Given the description of an element on the screen output the (x, y) to click on. 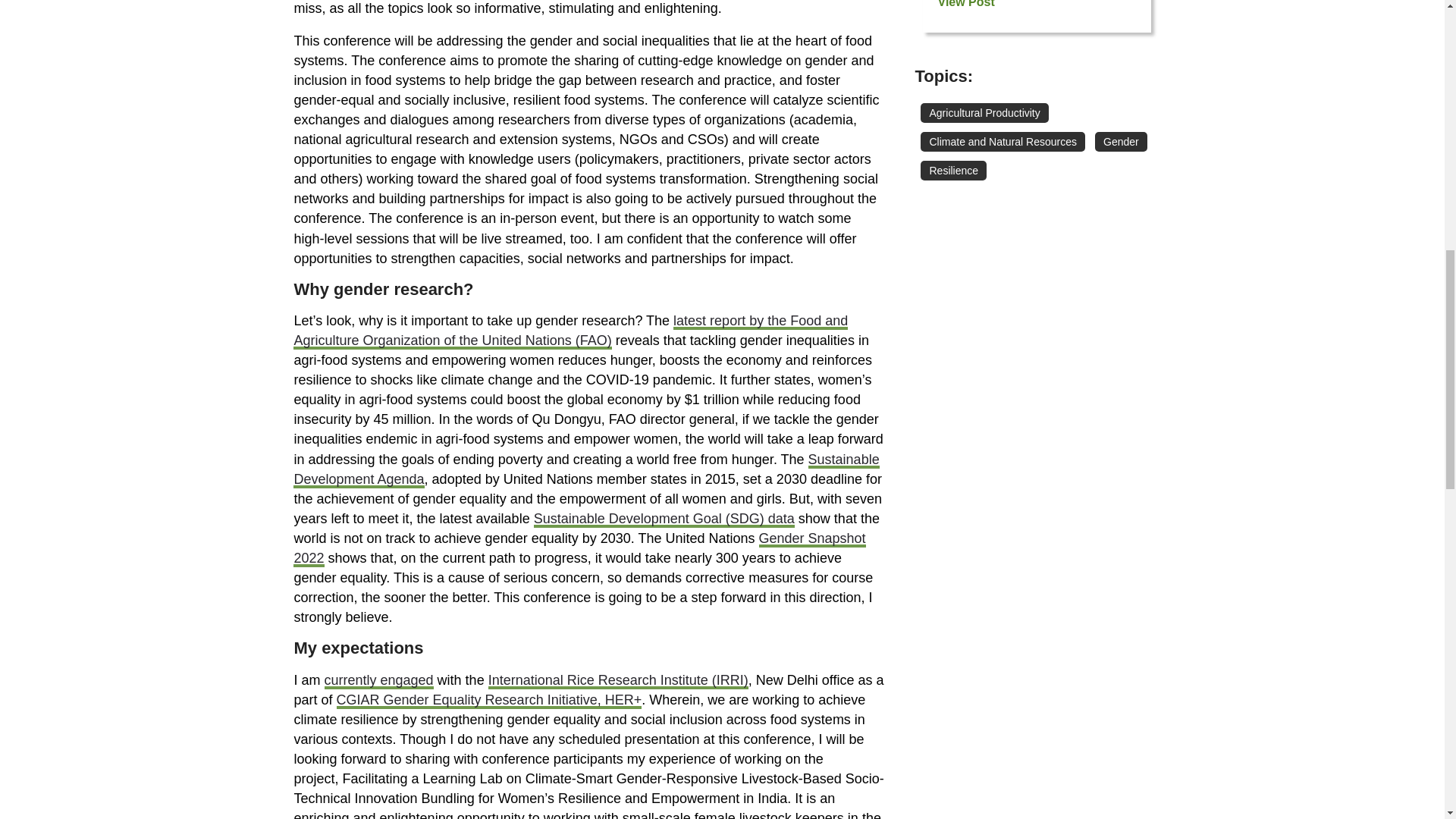
Sustainable Development Agenda (586, 470)
currently engaged (378, 680)
Agricultural Productivity (984, 112)
View Post (980, 4)
Gender (1120, 141)
Climate and Natural Resources (1002, 141)
Resilience (953, 170)
Gender Snapshot 2022 (579, 548)
